Given the description of an element on the screen output the (x, y) to click on. 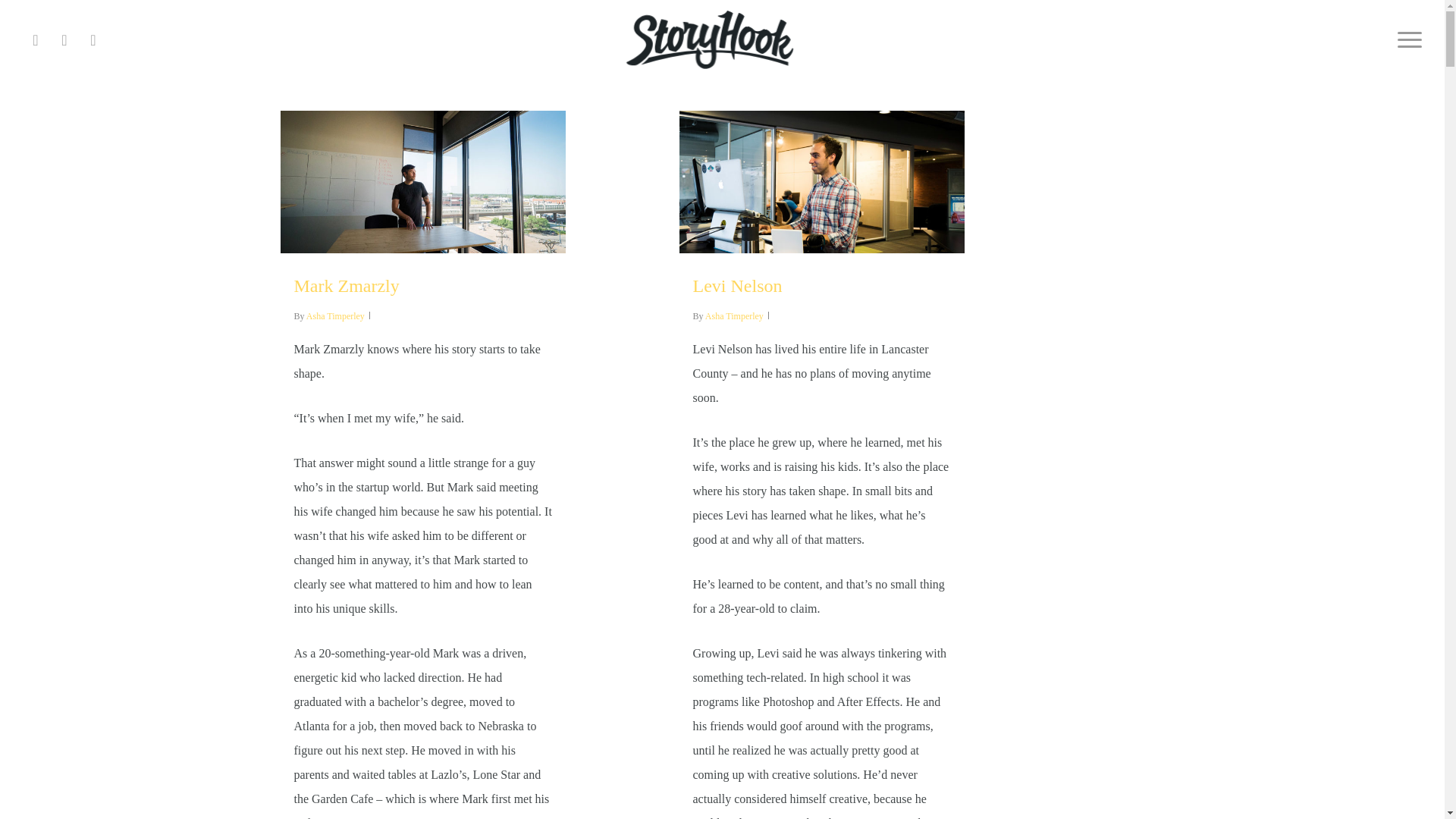
Mark Zmarzly (346, 285)
Levi Nelson (738, 285)
instagram (92, 40)
Posts by Asha Timperley (335, 316)
Posts by Asha Timperley (733, 316)
dribbble (63, 40)
facebook (35, 40)
Asha Timperley (335, 316)
Asha Timperley (733, 316)
